Given the description of an element on the screen output the (x, y) to click on. 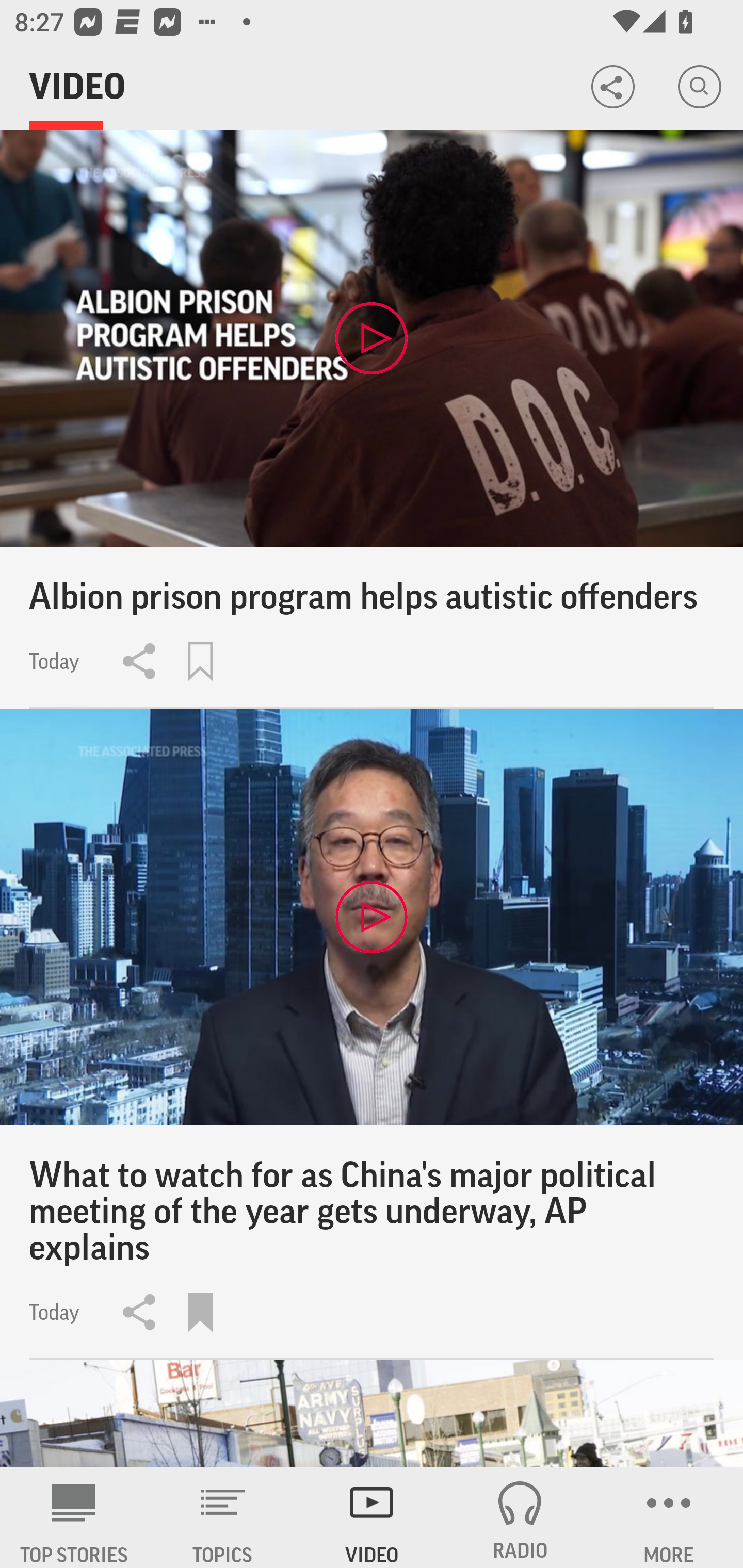
AP News TOP STORIES (74, 1517)
TOPICS (222, 1517)
VIDEO (371, 1517)
RADIO (519, 1517)
MORE (668, 1517)
